Given the description of an element on the screen output the (x, y) to click on. 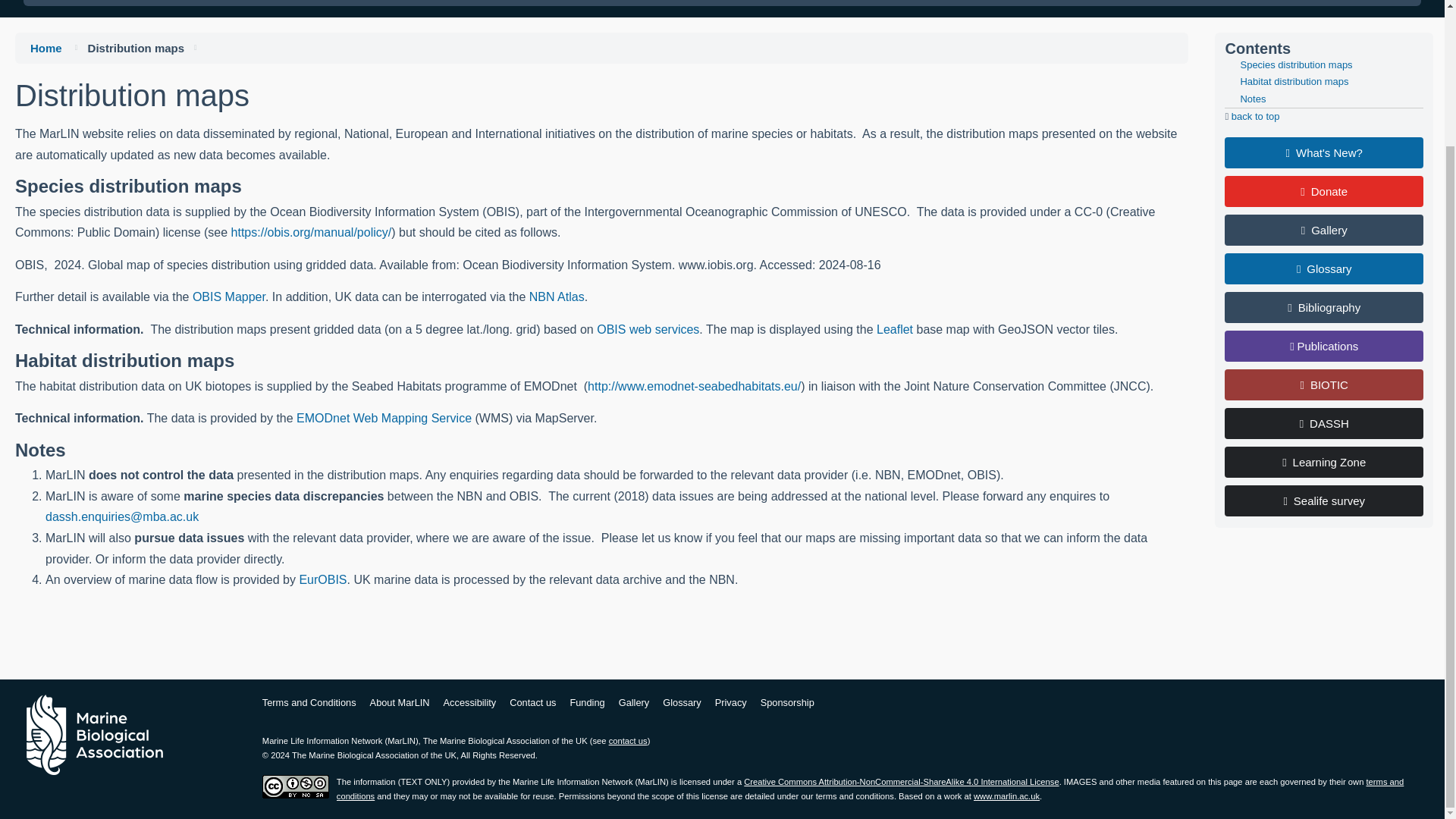
Sensitivity (302, 2)
Habitats (201, 2)
Species (108, 2)
MBA Website (94, 733)
